Given the description of an element on the screen output the (x, y) to click on. 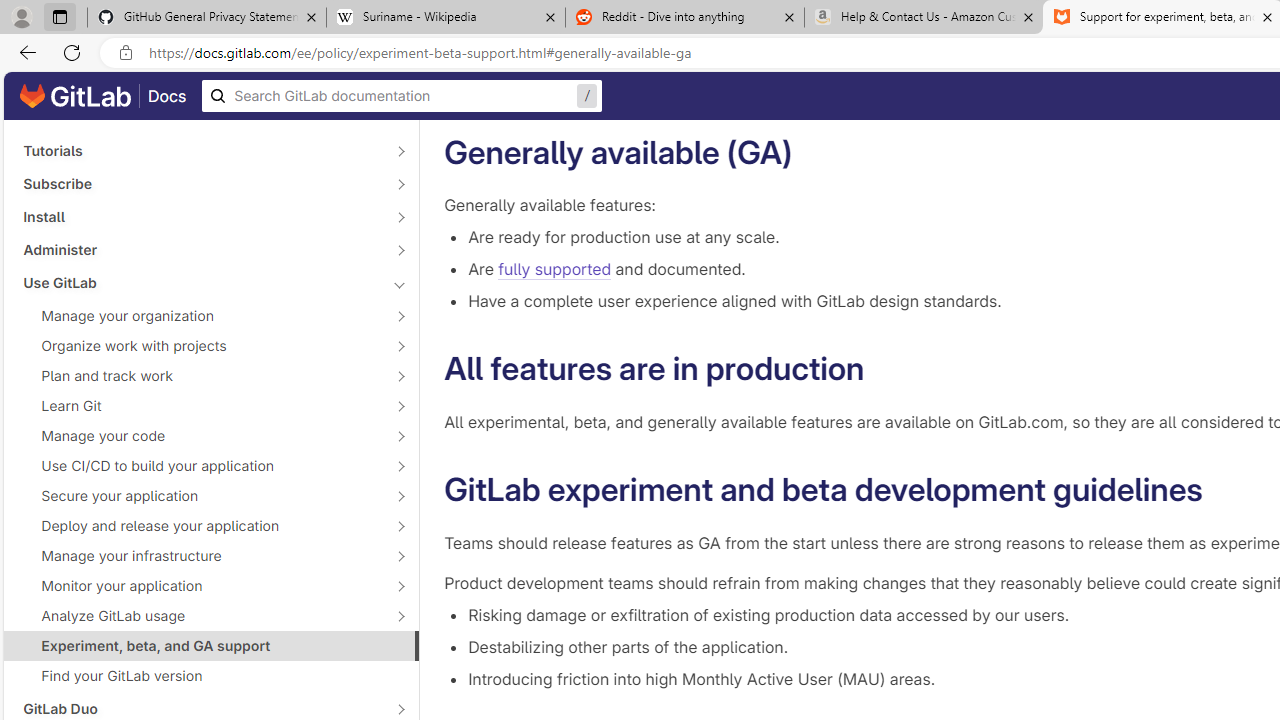
Deploy and release your application (199, 525)
GitLab documentation home (75, 96)
Use CI/CD to build your application (199, 465)
